Given the description of an element on the screen output the (x, y) to click on. 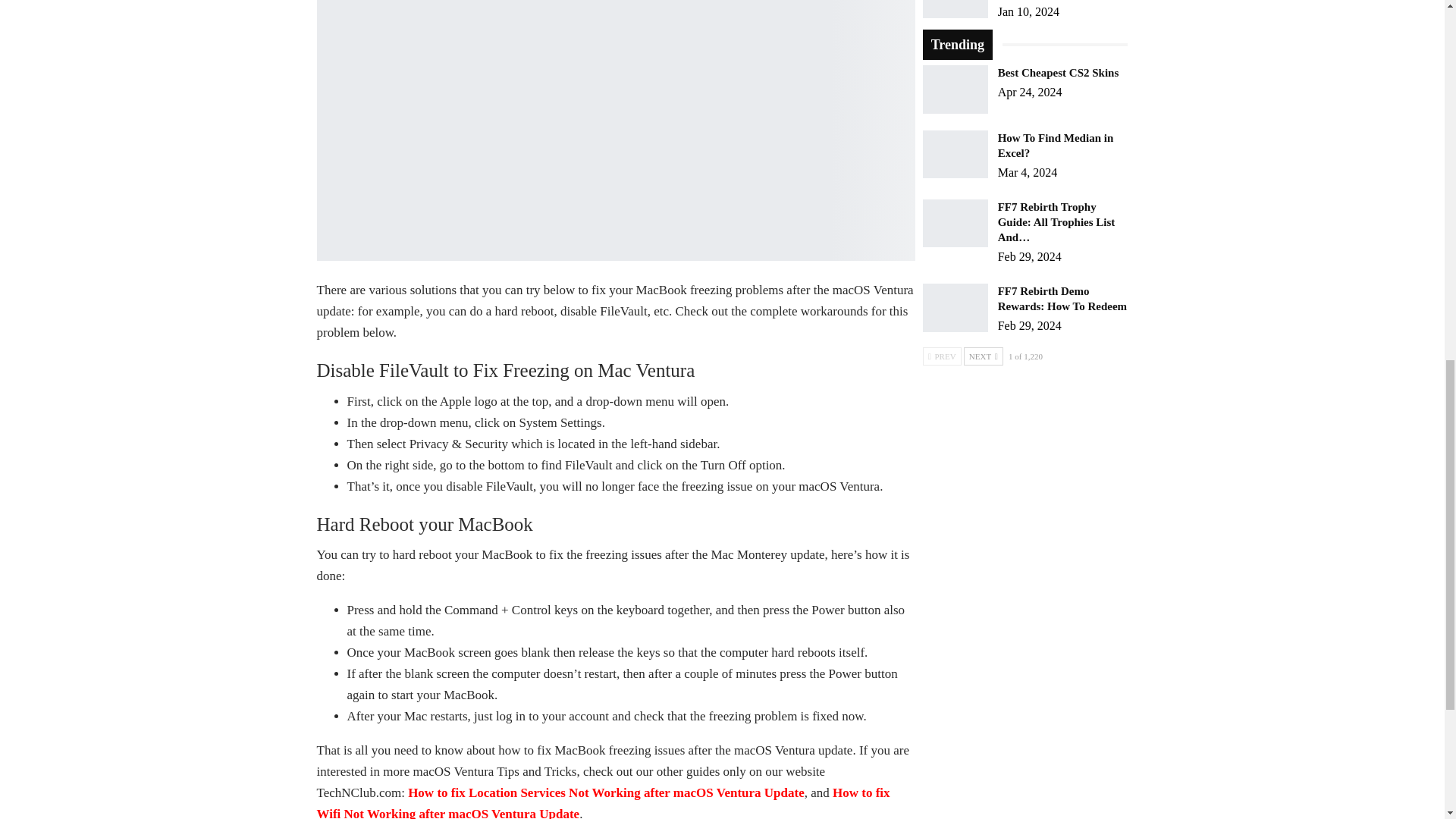
Previous (941, 356)
How To Find Median in Excel? (955, 154)
How to fix Wifi Not Working after macOS Ventura Update (603, 802)
FF7 Rebirth Demo Rewards: How To Redeem (955, 307)
Best Cheapest CS2 Skins (955, 89)
Next (983, 356)
